Given the description of an element on the screen output the (x, y) to click on. 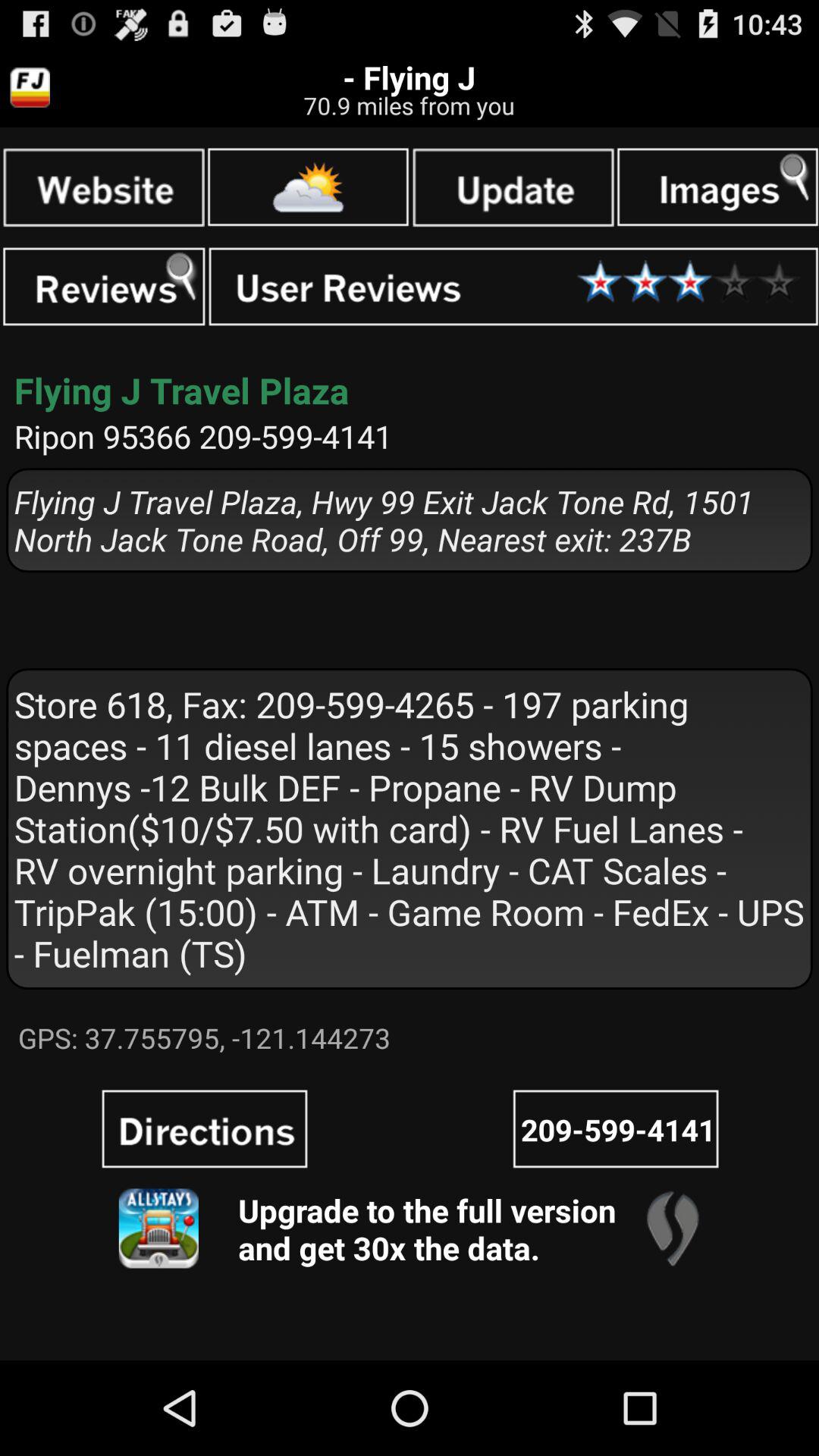
google search (103, 186)
